Given the description of an element on the screen output the (x, y) to click on. 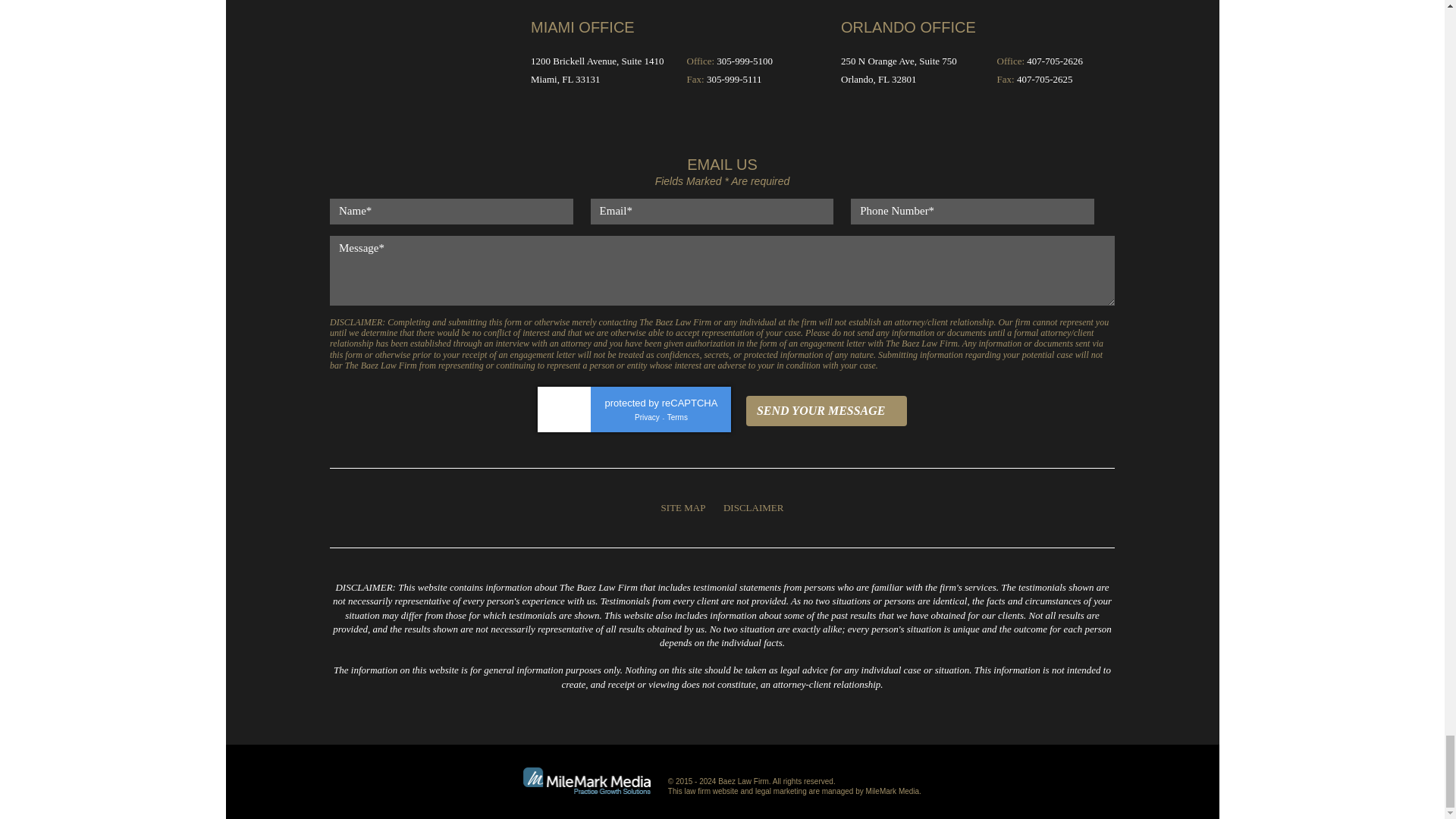
Send Your Message (826, 410)
